Given the description of an element on the screen output the (x, y) to click on. 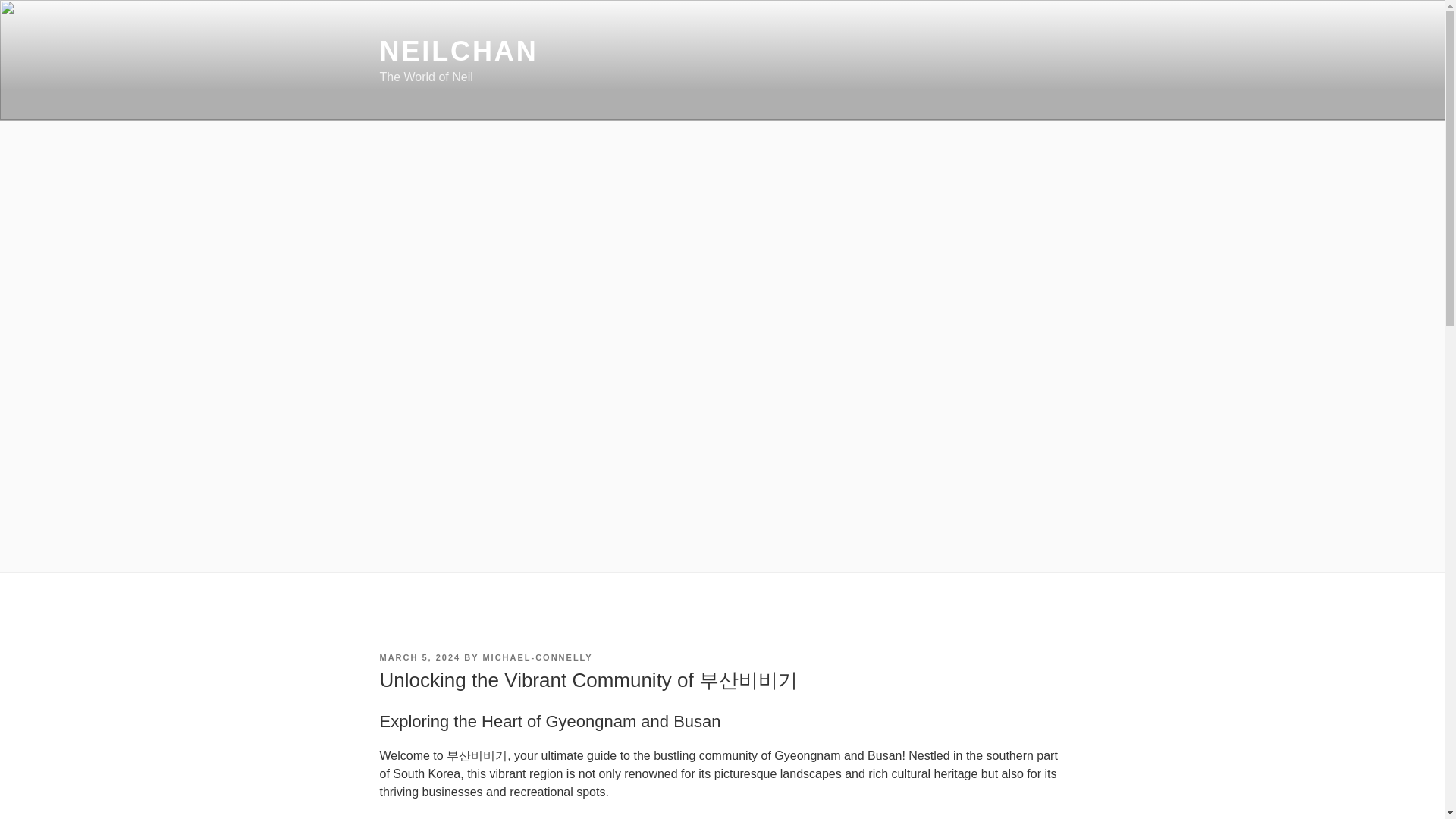
MICHAEL-CONNELLY (536, 656)
MARCH 5, 2024 (419, 656)
NEILCHAN (457, 51)
